Given the description of an element on the screen output the (x, y) to click on. 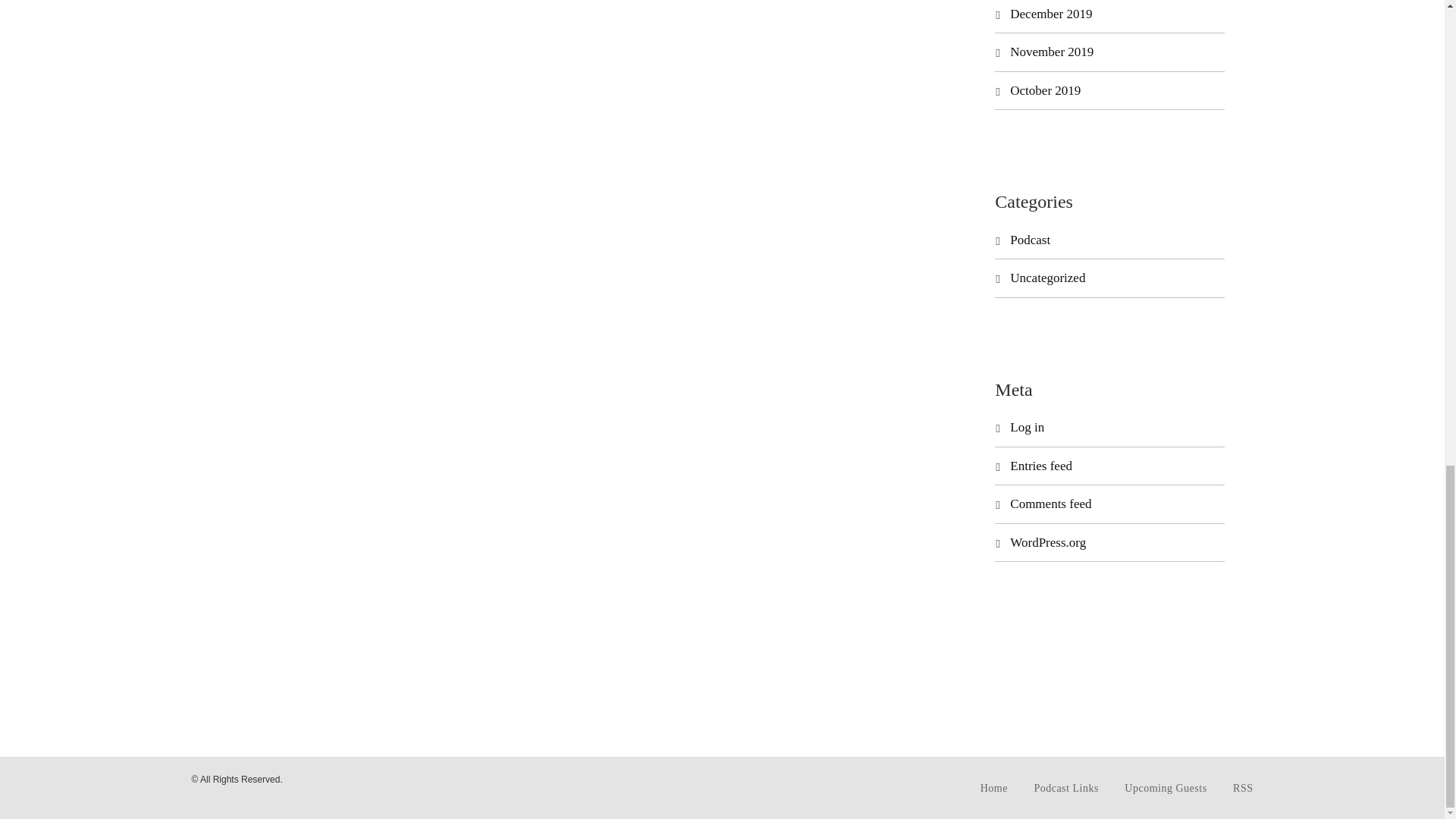
November 2019 (1051, 51)
Log in (1026, 427)
October 2019 (1045, 90)
Uncategorized (1047, 278)
Podcast (1029, 239)
December 2019 (1051, 13)
